Given the description of an element on the screen output the (x, y) to click on. 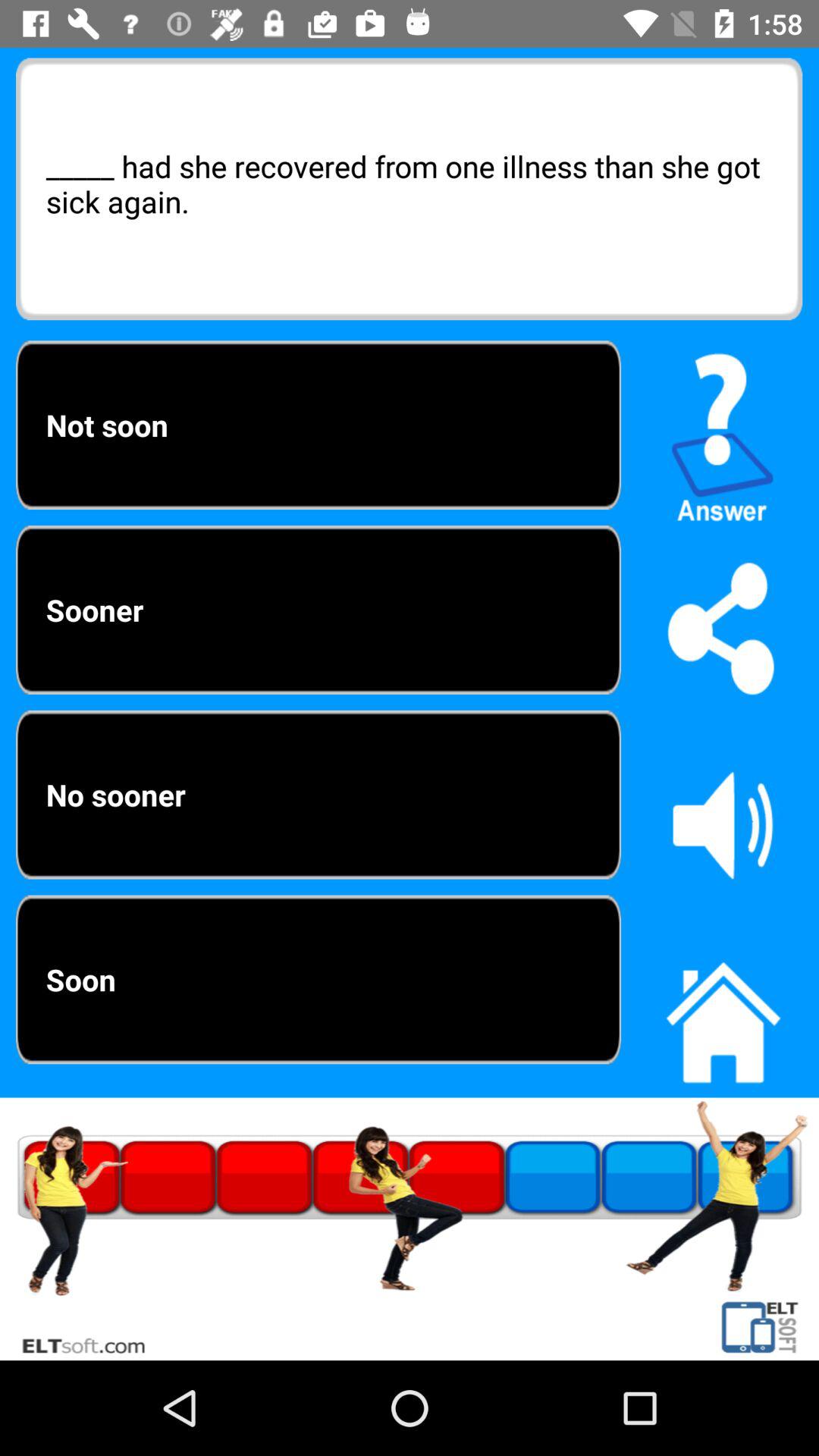
question answer option (723, 430)
